Given the description of an element on the screen output the (x, y) to click on. 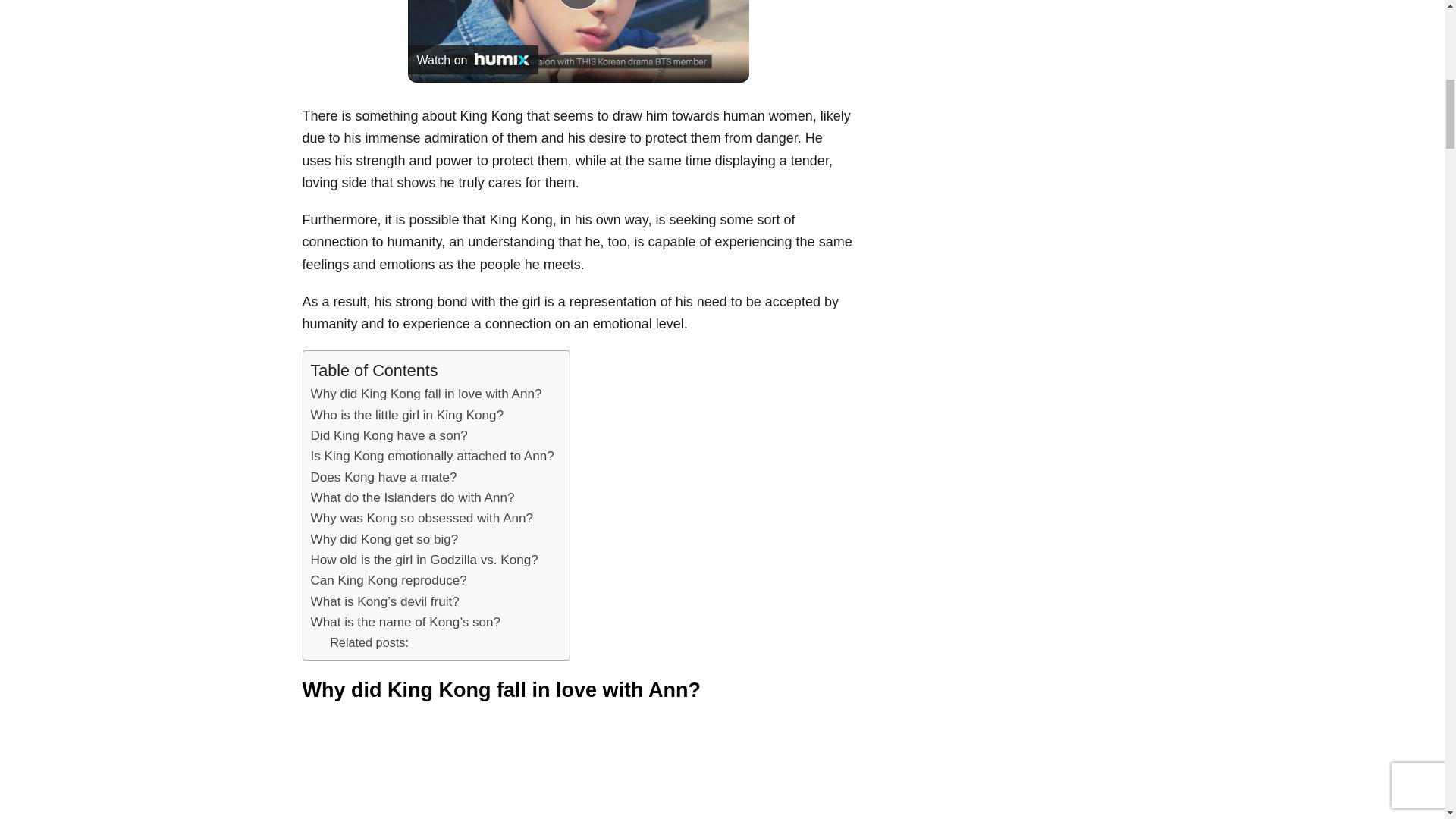
Why did King Kong fall in love with Ann? (426, 394)
Why did Kong get so big? (384, 539)
Why did King Kong fall in love with Ann? (426, 394)
Does Kong have a mate? (384, 476)
Who is the little girl in King Kong? (407, 414)
Watch on (472, 59)
Did King Kong have a son? (389, 435)
Who is the little girl in King Kong? (407, 414)
Related posts: (369, 641)
Is King Kong emotionally attached to Ann? (432, 455)
Is King Kong emotionally attached to Ann? (432, 455)
Why was Kong so obsessed with Ann? (422, 517)
Can King Kong reproduce? (389, 580)
Did King Kong have a son? (389, 435)
How old is the girl in Godzilla vs. Kong? (424, 559)
